Given the description of an element on the screen output the (x, y) to click on. 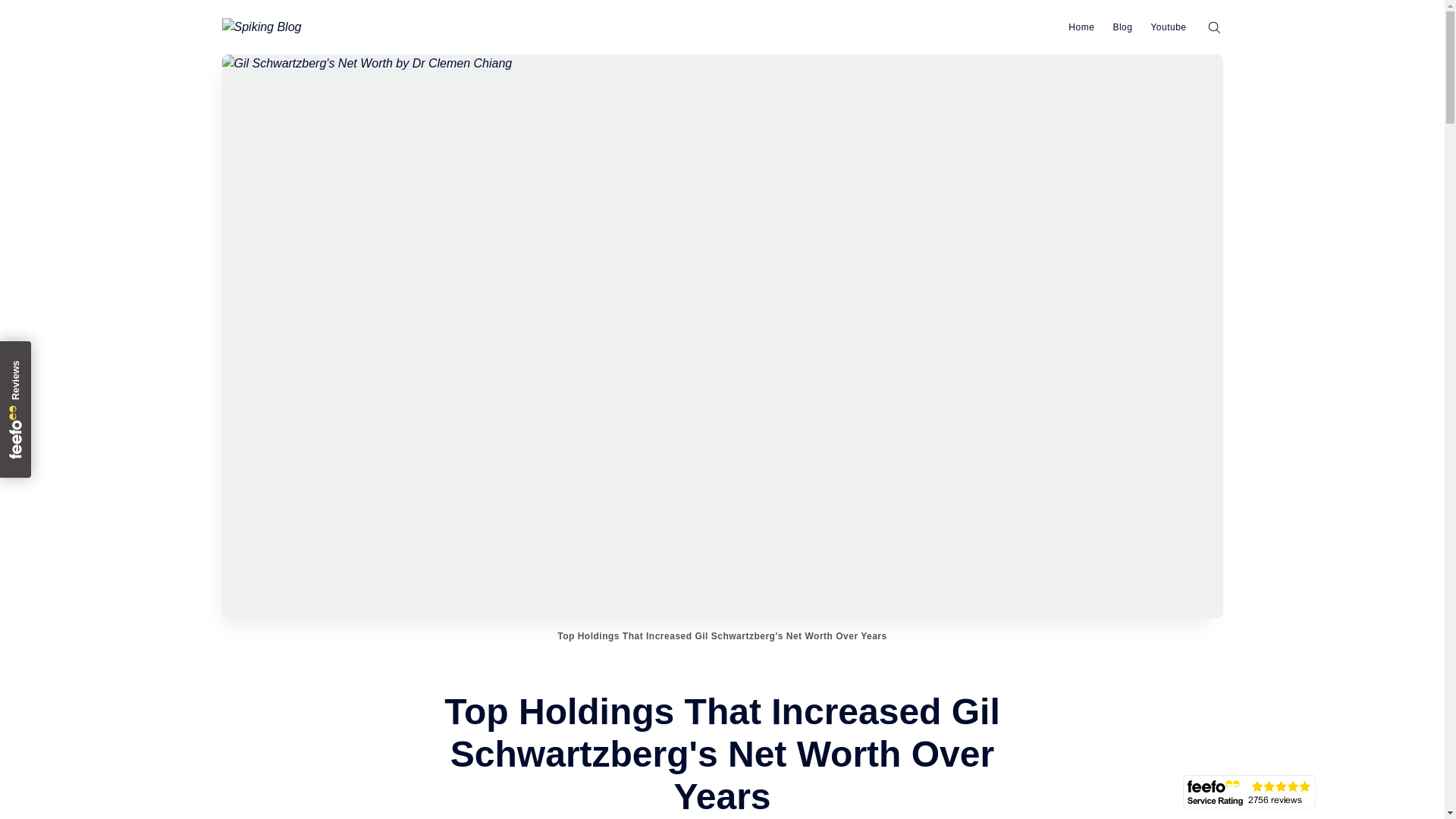
Home (1081, 27)
Youtube (1168, 27)
Blog (1122, 27)
